Given the description of an element on the screen output the (x, y) to click on. 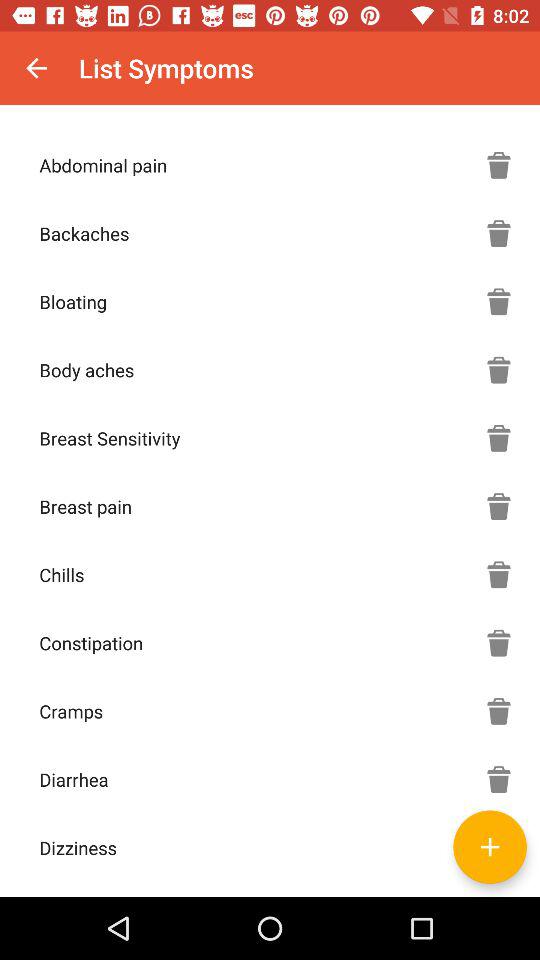
delete (499, 438)
